Given the description of an element on the screen output the (x, y) to click on. 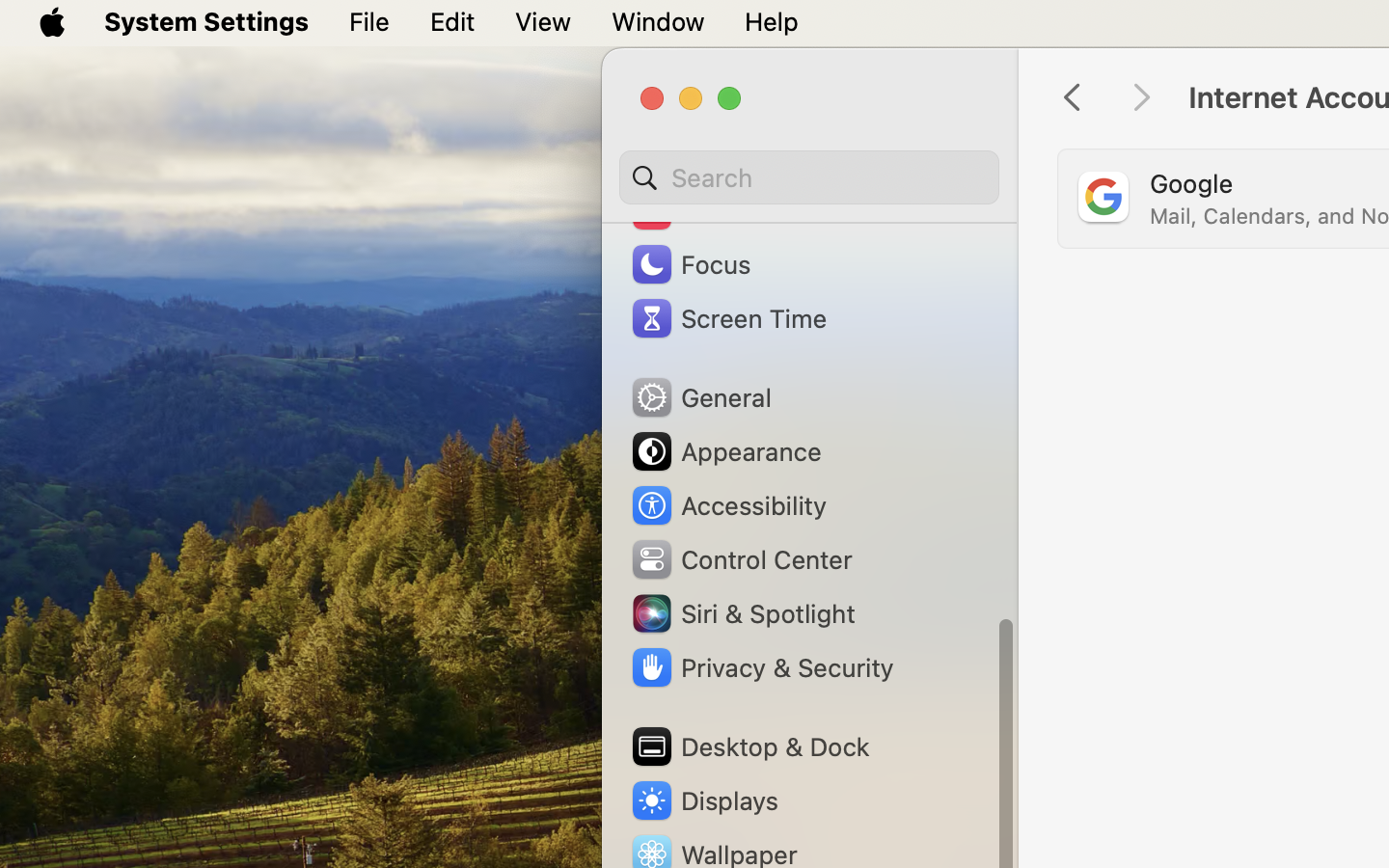
Displays Element type: AXStaticText (703, 800)
Focus Element type: AXStaticText (689, 264)
Siri & Spotlight Element type: AXStaticText (741, 613)
Appearance Element type: AXStaticText (724, 451)
Accessibility Element type: AXStaticText (727, 505)
